Given the description of an element on the screen output the (x, y) to click on. 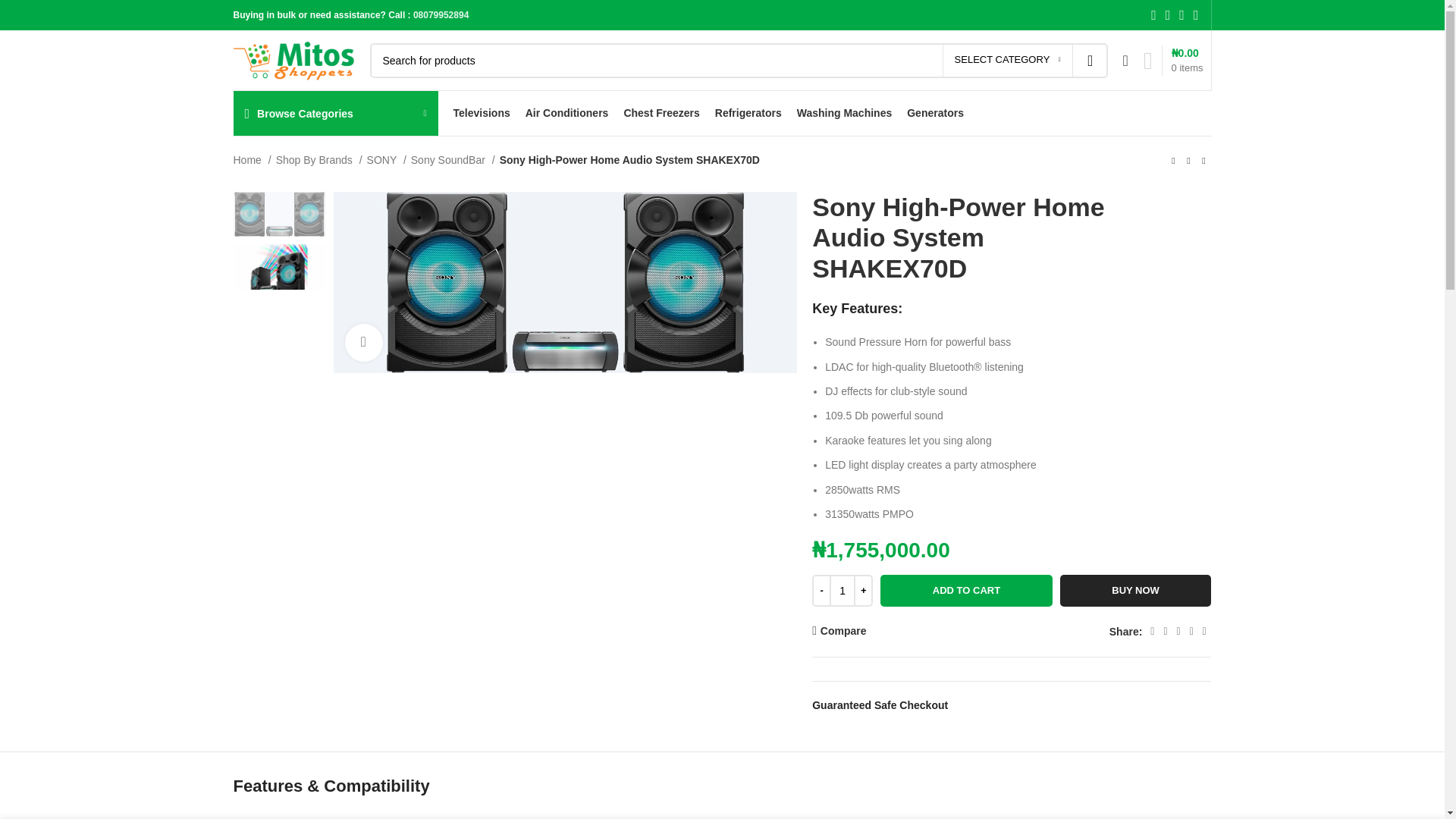
08079952894 (440, 14)
SELECT CATEGORY (1007, 60)
a1a5522987849d2790099c9e75f6848b Mitos Shoppers (565, 282)
Search for products (738, 59)
SELECT CATEGORY (1007, 60)
a1a5522987849d2790099c9e75f6848b Mitos Shoppers (279, 214)
Shopping cart (1173, 60)
202003280507582 Mitos Shoppers (279, 266)
